Given the description of an element on the screen output the (x, y) to click on. 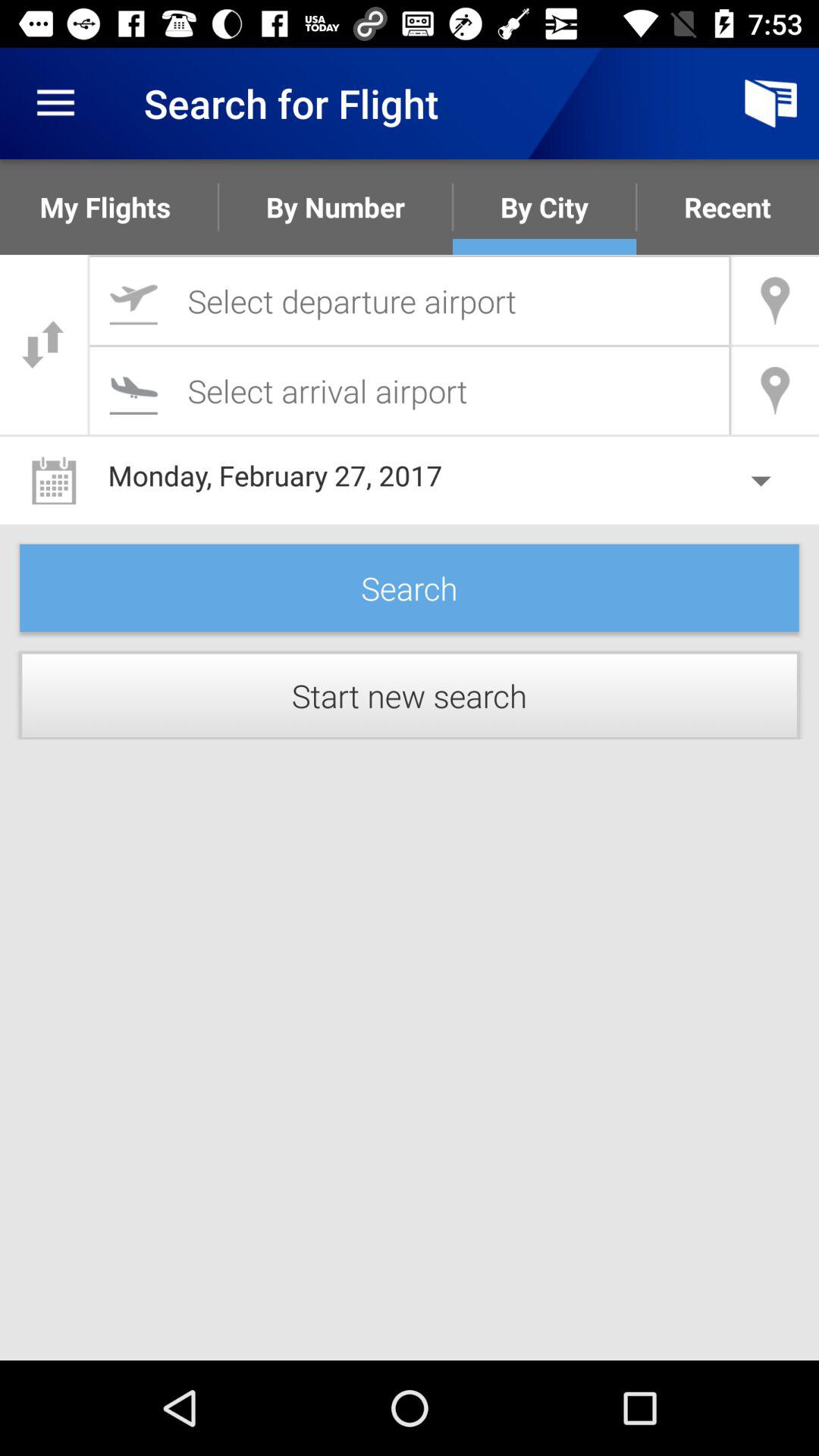
enter the location (409, 300)
